Given the description of an element on the screen output the (x, y) to click on. 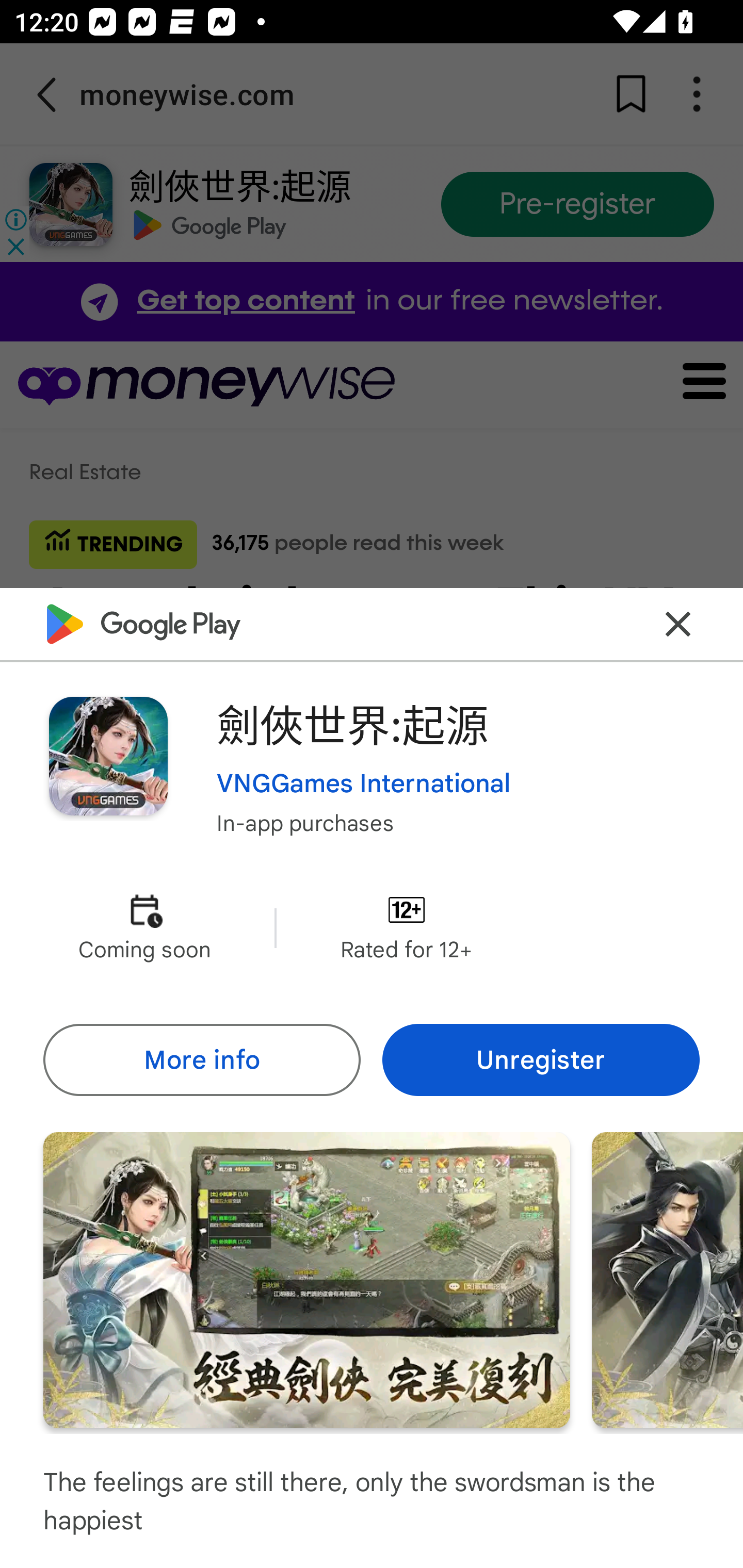
Close (677, 624)
Image of app or game icon for 劍俠世界:起源 (108, 756)
VNGGames International (363, 782)
More info (201, 1059)
Unregister (540, 1059)
Screenshot "1" of "5" (306, 1280)
Screenshot "2" of "5" (667, 1280)
